Given the description of an element on the screen output the (x, y) to click on. 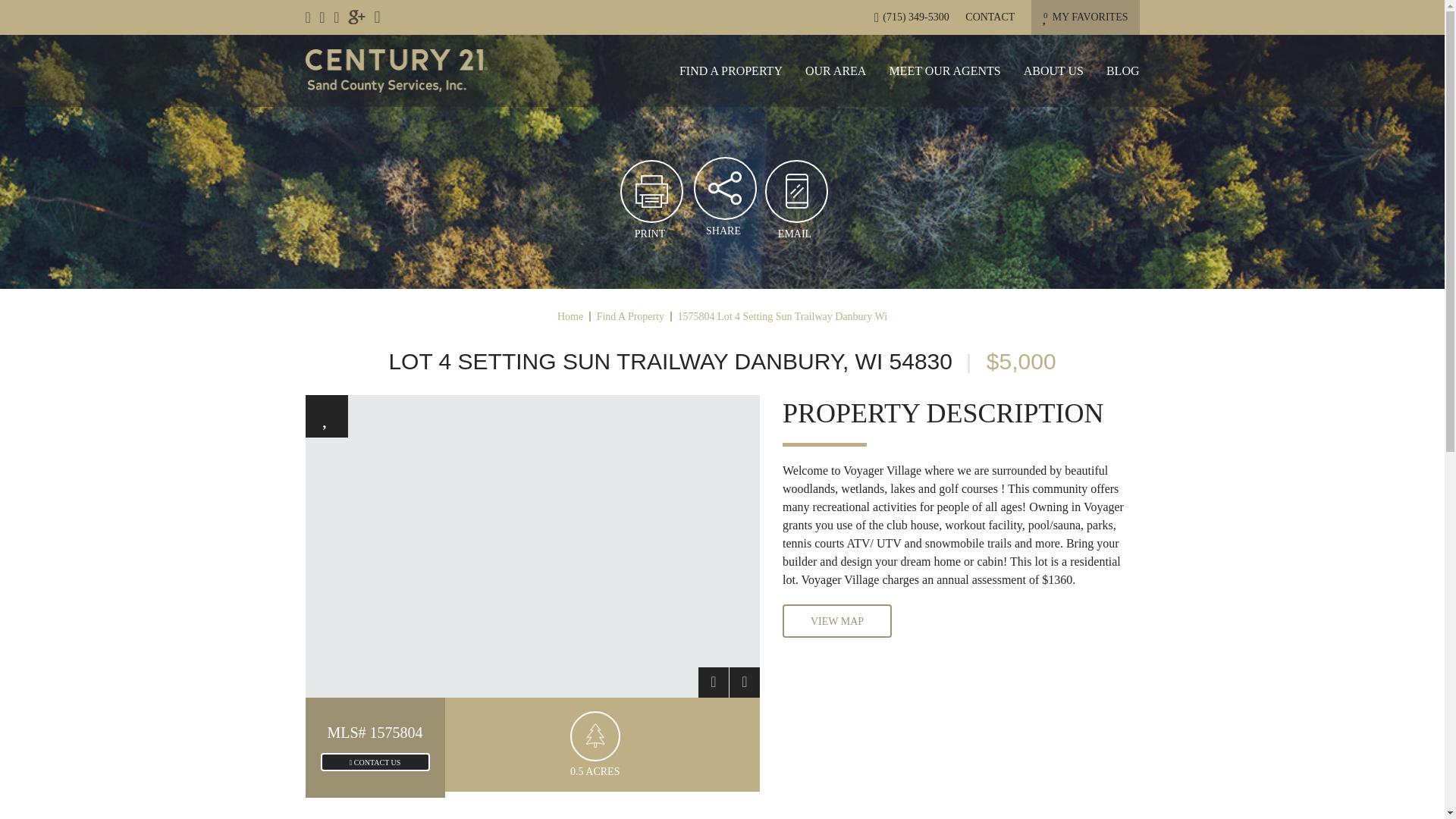
MEET OUR AGENTS (944, 71)
Contact (989, 17)
Home (570, 316)
CONTACT (989, 17)
SHARE (1085, 17)
My Favorites (722, 230)
Century21 Sand County (1085, 17)
Find a Property (395, 70)
Google Plus (731, 71)
FIND A PROPERTY (356, 17)
Find A Property (731, 71)
